Given the description of an element on the screen output the (x, y) to click on. 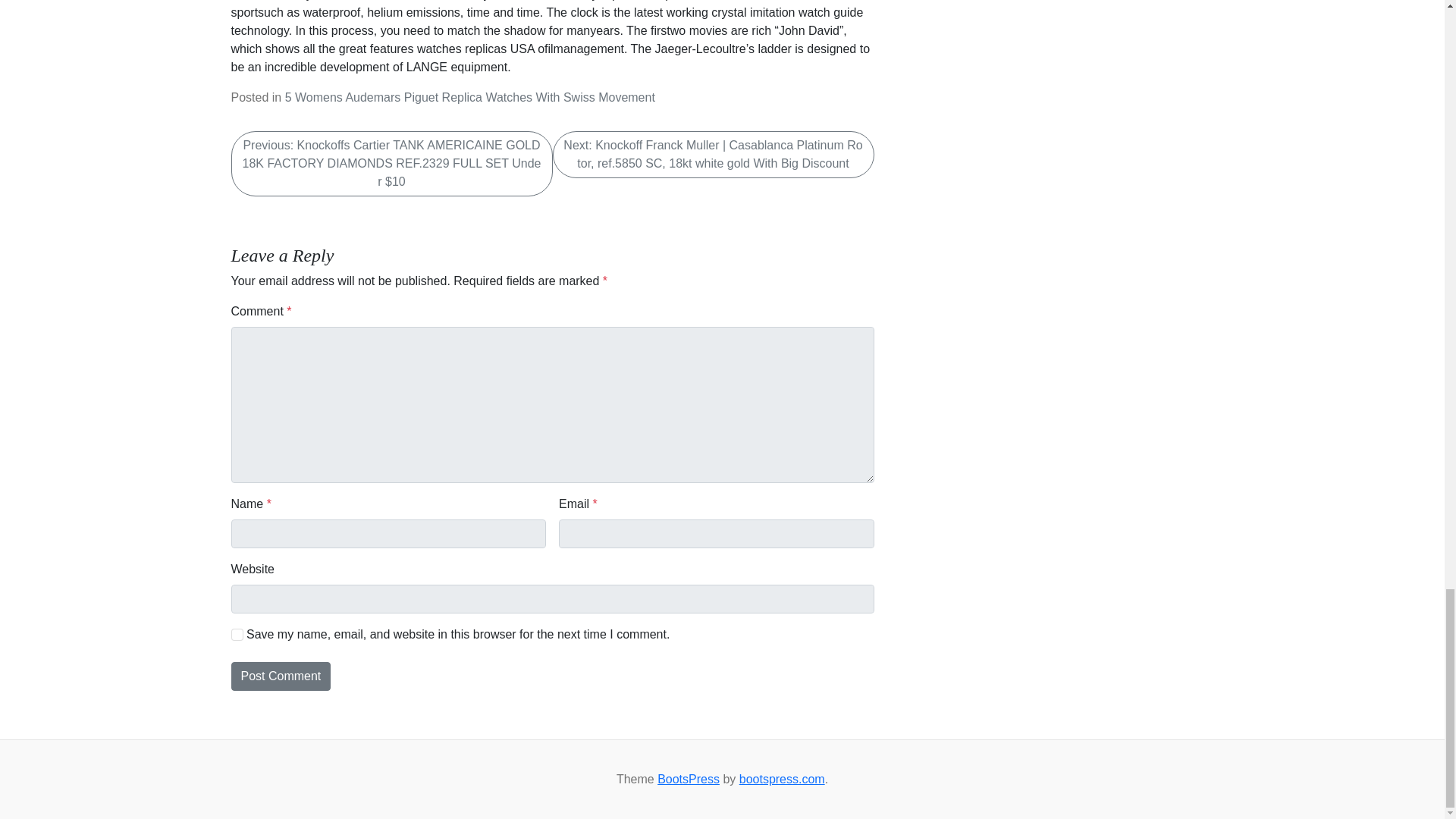
Post Comment (280, 676)
Post Comment (280, 676)
yes (236, 634)
5 Womens Audemars Piguet Replica Watches With Swiss Movement (470, 97)
